Given the description of an element on the screen output the (x, y) to click on. 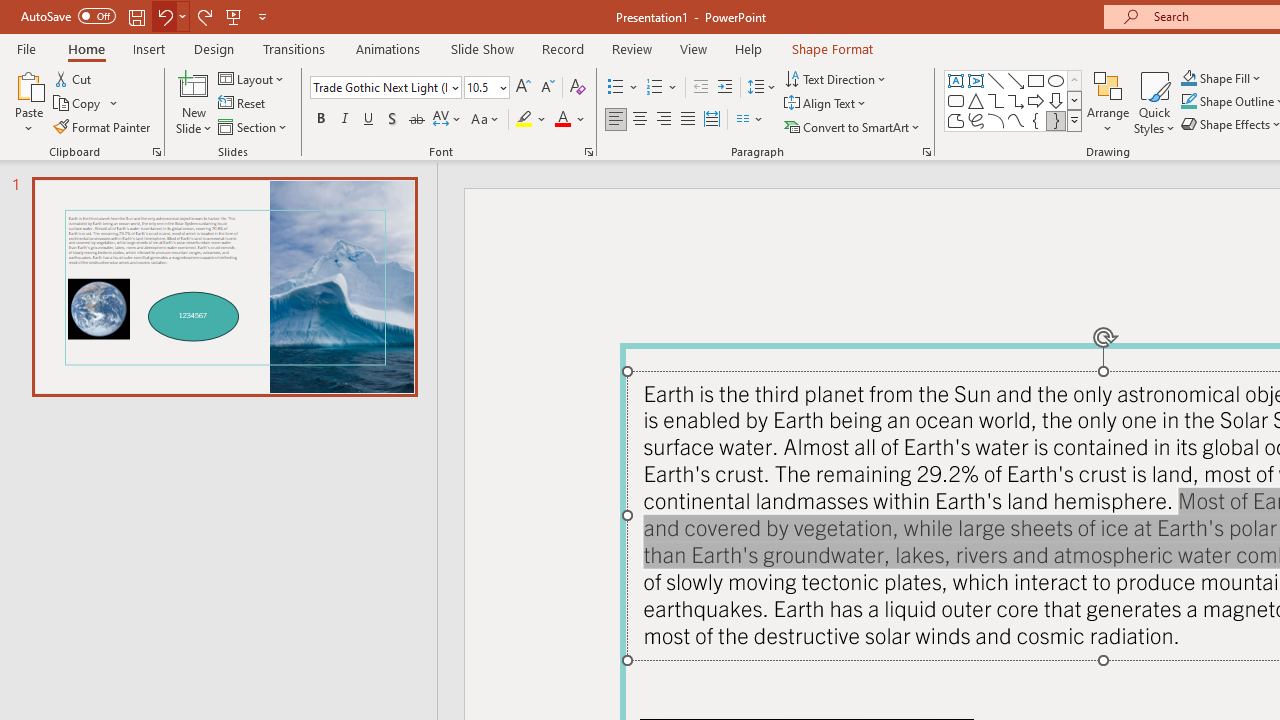
Font Color (569, 119)
Freeform: Shape (955, 120)
Arrow: Down (1055, 100)
AutomationID: ShapesInsertGallery (1014, 100)
Underline (369, 119)
Paragraph... (926, 151)
Align Text (826, 103)
Open (502, 87)
Layout (252, 78)
